Given the description of an element on the screen output the (x, y) to click on. 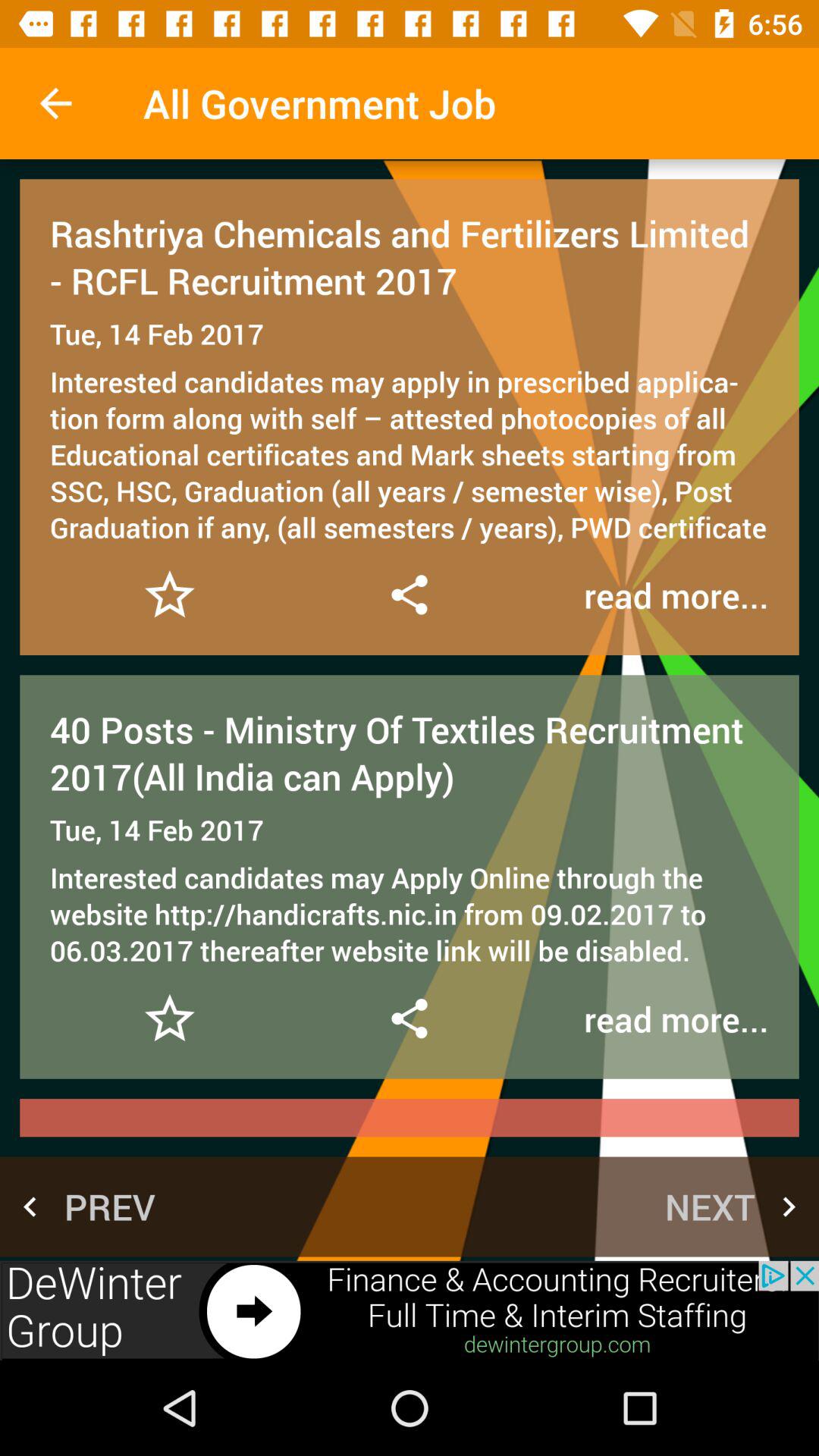
go to sear (408, 594)
